Given the description of an element on the screen output the (x, y) to click on. 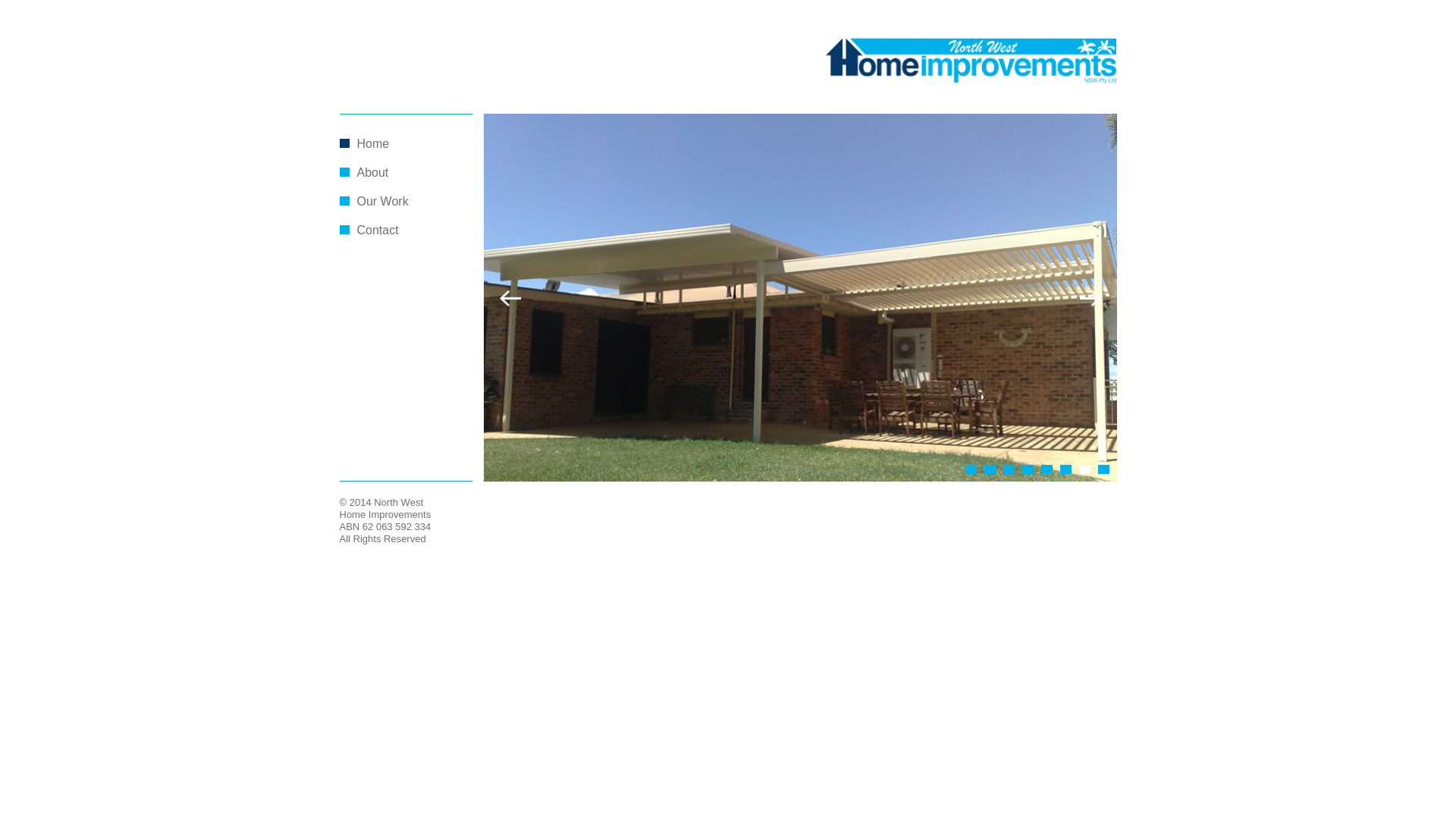
Home Element type: text (372, 143)
Contact Element type: text (377, 229)
About Element type: text (372, 172)
Our Work Element type: text (381, 200)
